Given the description of an element on the screen output the (x, y) to click on. 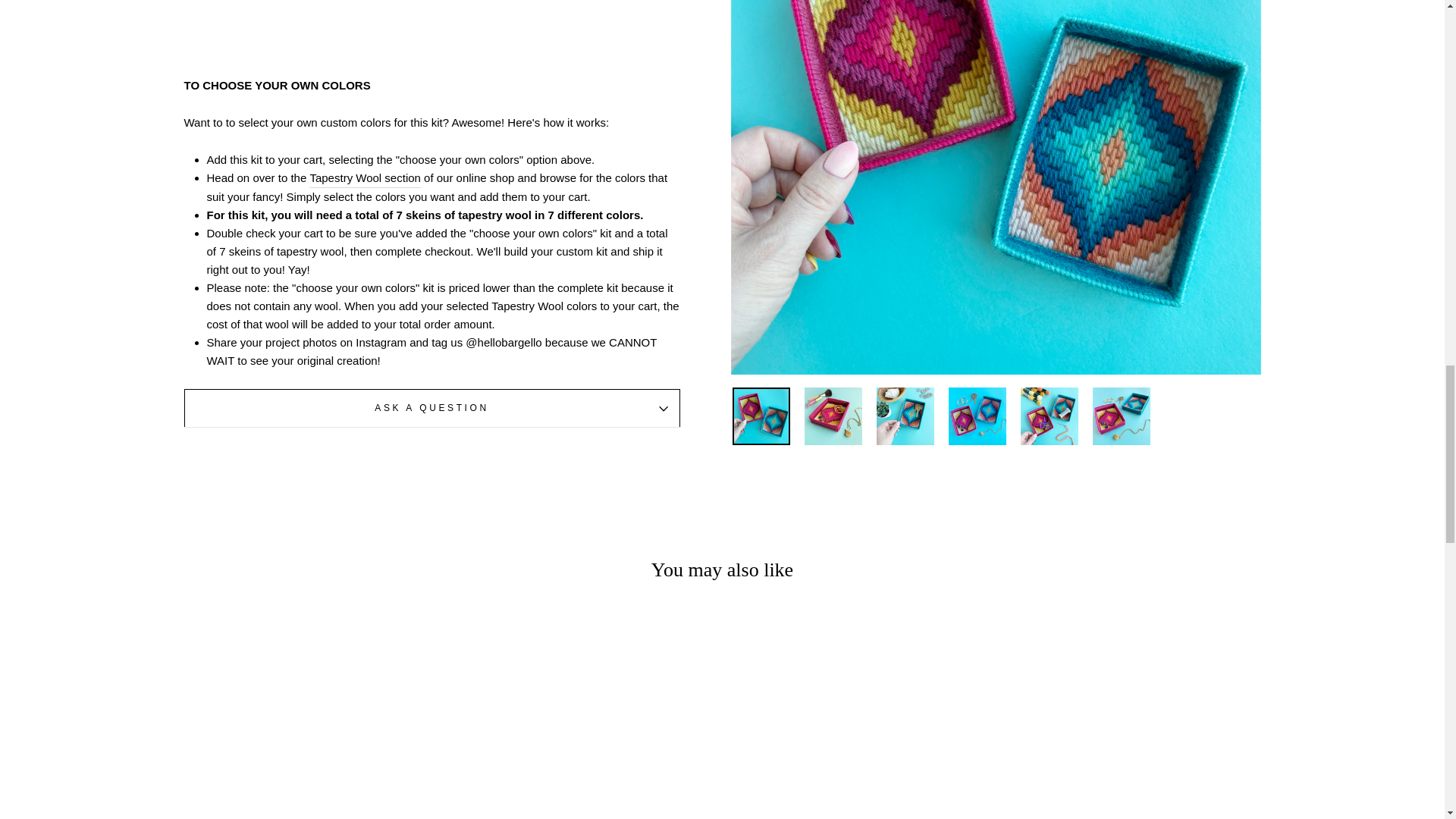
Shop DMC Tapestry Wool for Hello Bargello Needlepoint (364, 178)
